Given the description of an element on the screen output the (x, y) to click on. 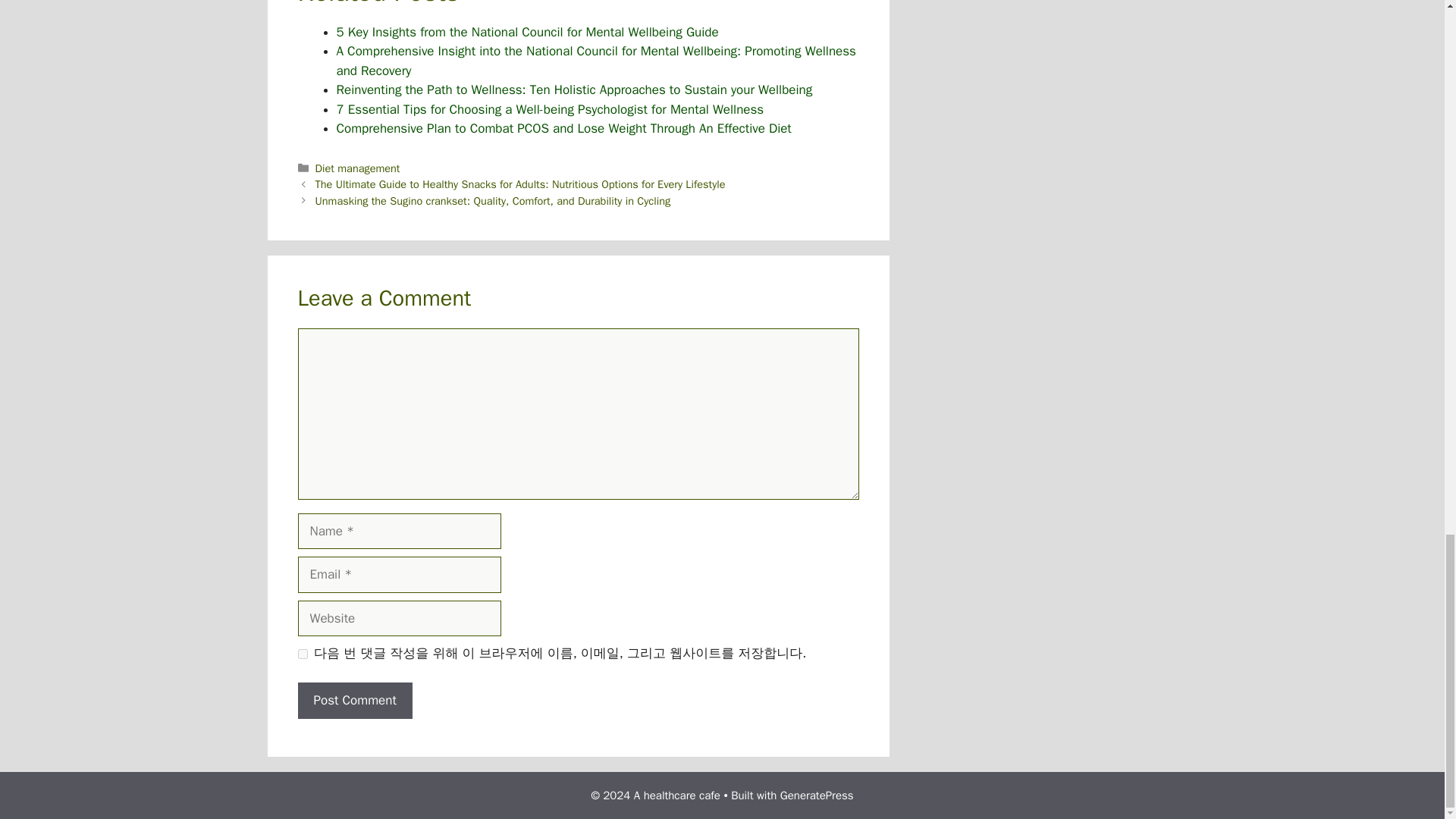
Post Comment (354, 700)
Diet management (357, 168)
Post Comment (354, 700)
yes (302, 654)
